Given the description of an element on the screen output the (x, y) to click on. 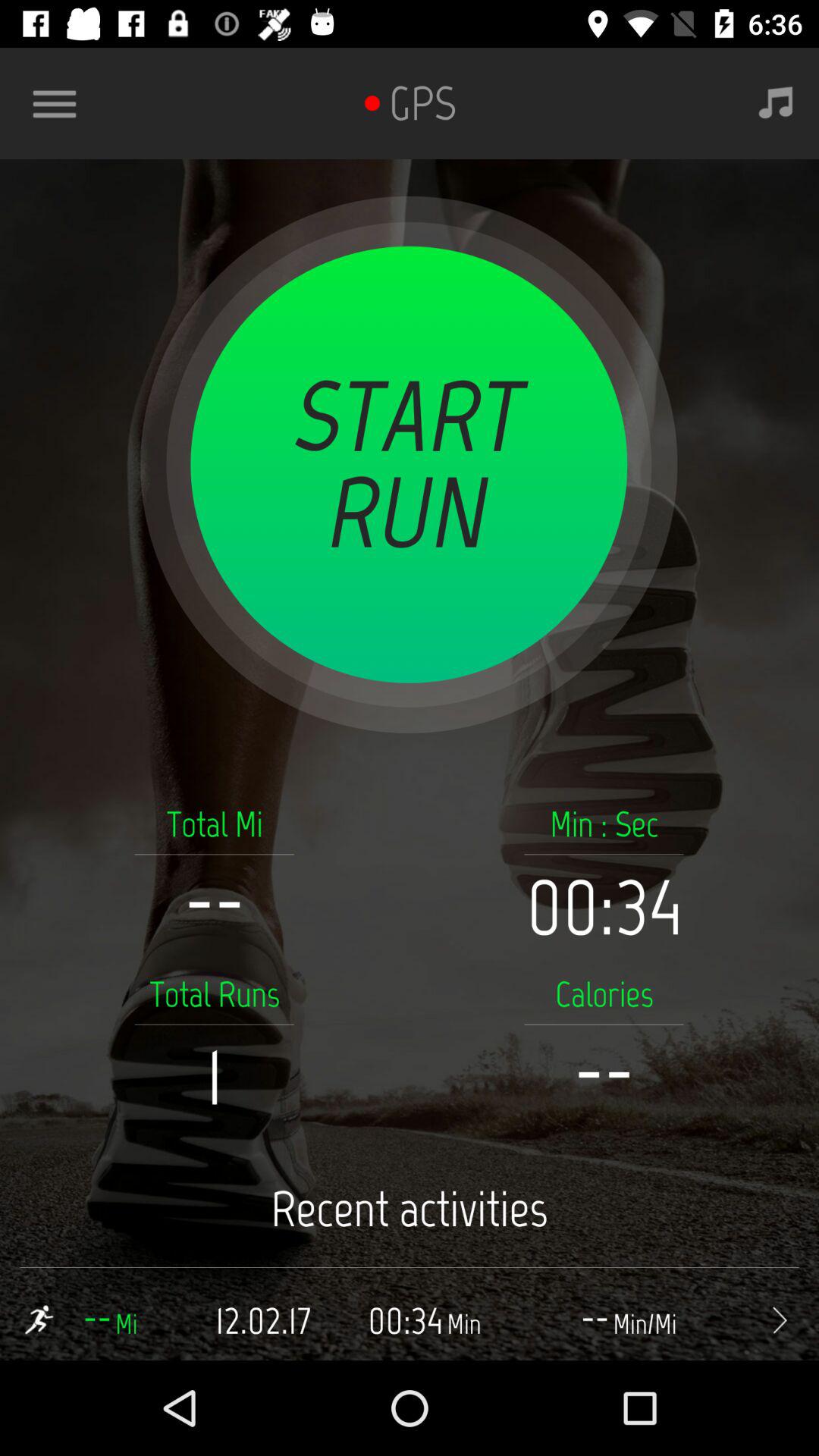
open more options window (60, 103)
